Given the description of an element on the screen output the (x, y) to click on. 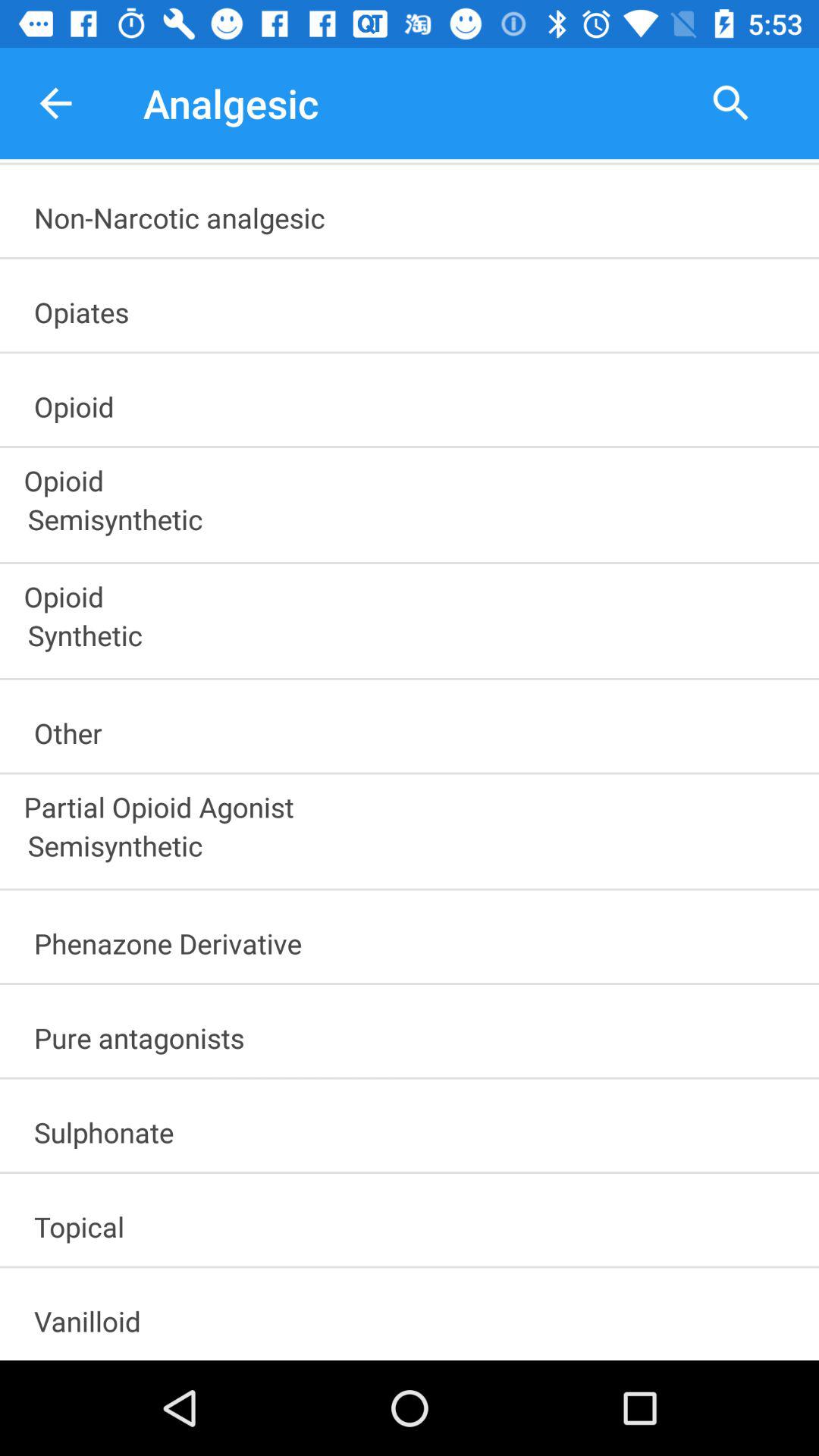
launch the item below semisynthetic item (416, 938)
